Given the description of an element on the screen output the (x, y) to click on. 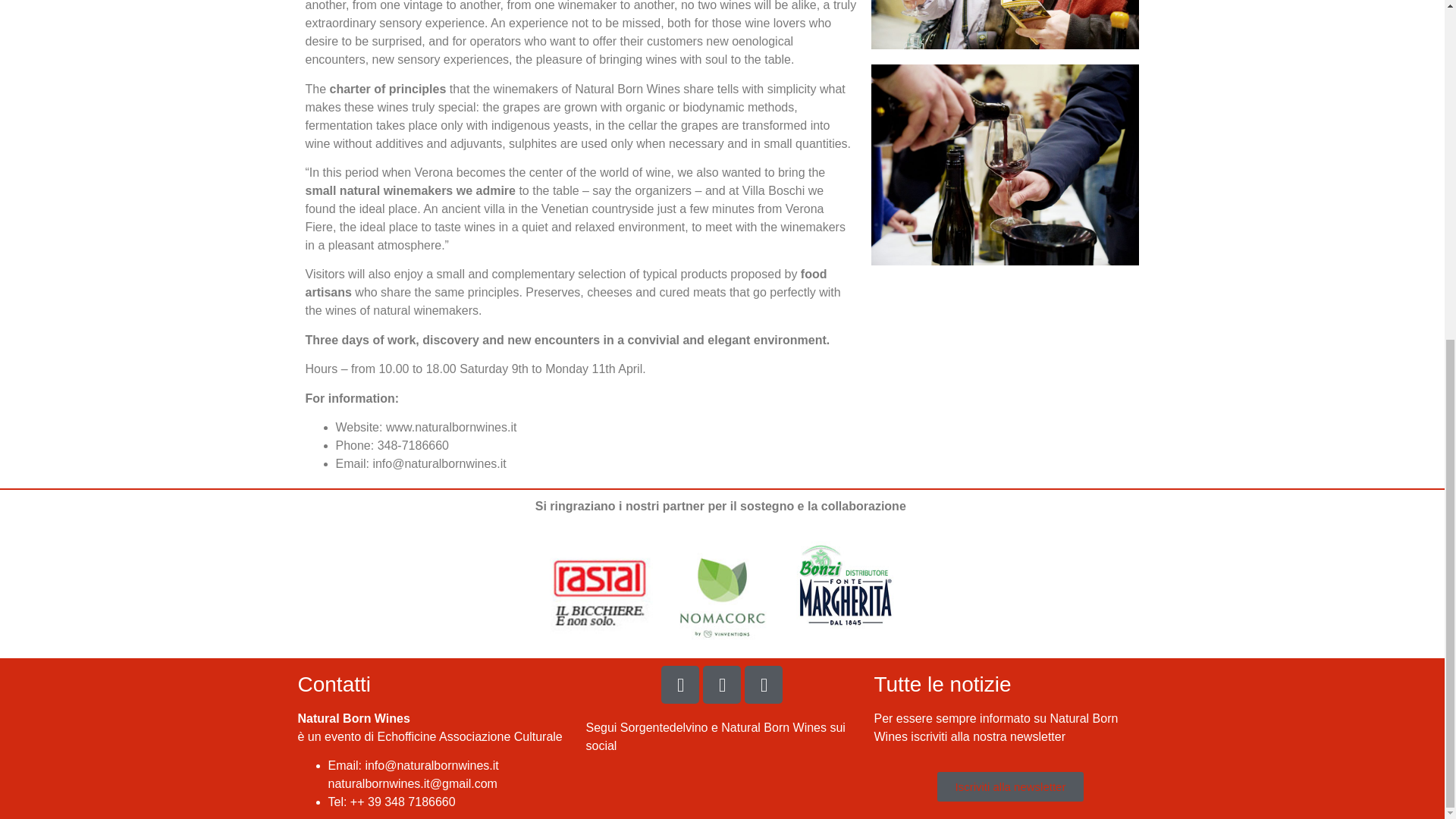
logo-rastal (598, 595)
logo-nomacorc (722, 595)
